Given the description of an element on the screen output the (x, y) to click on. 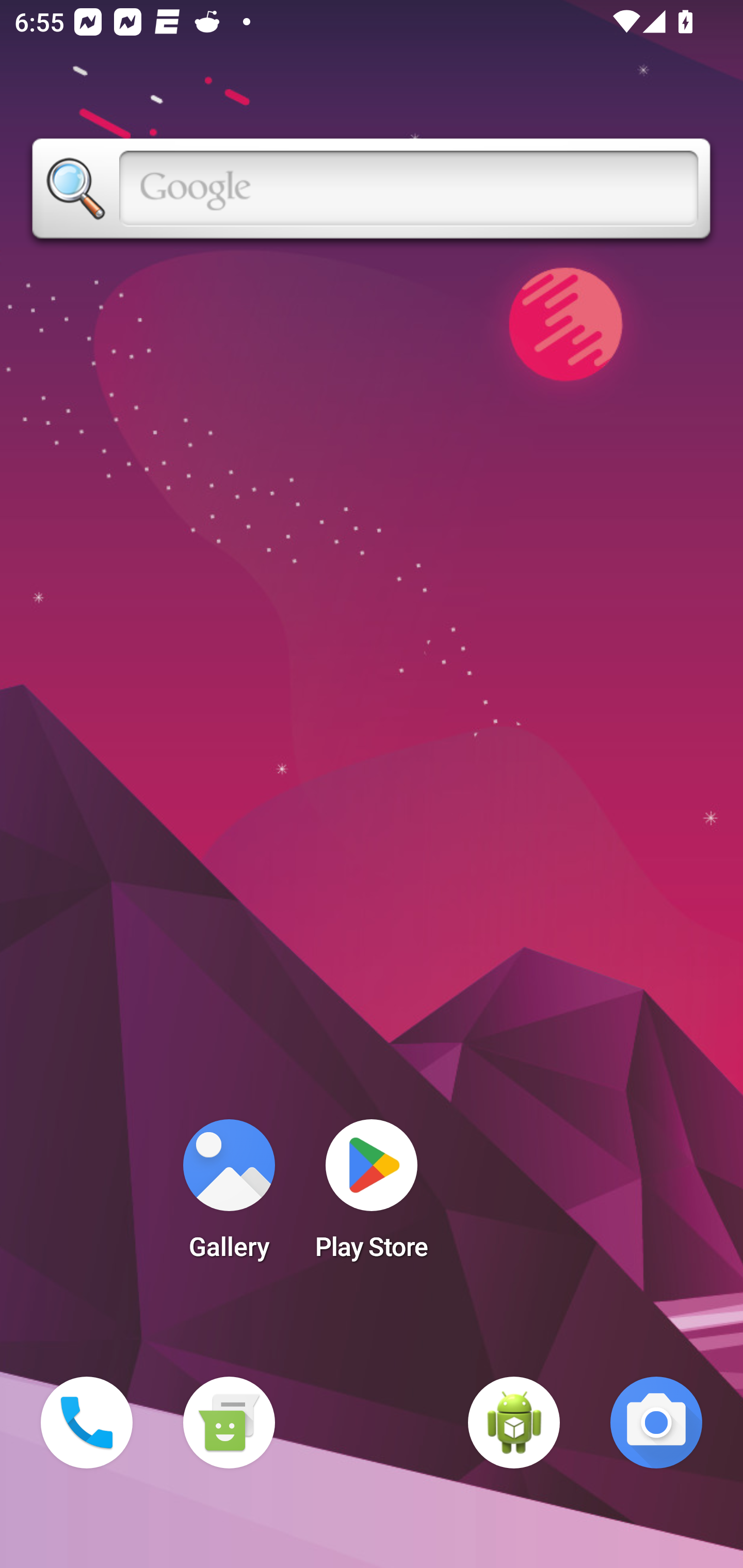
Gallery (228, 1195)
Play Store (371, 1195)
Phone (86, 1422)
Messaging (228, 1422)
WebView Browser Tester (513, 1422)
Camera (656, 1422)
